Given the description of an element on the screen output the (x, y) to click on. 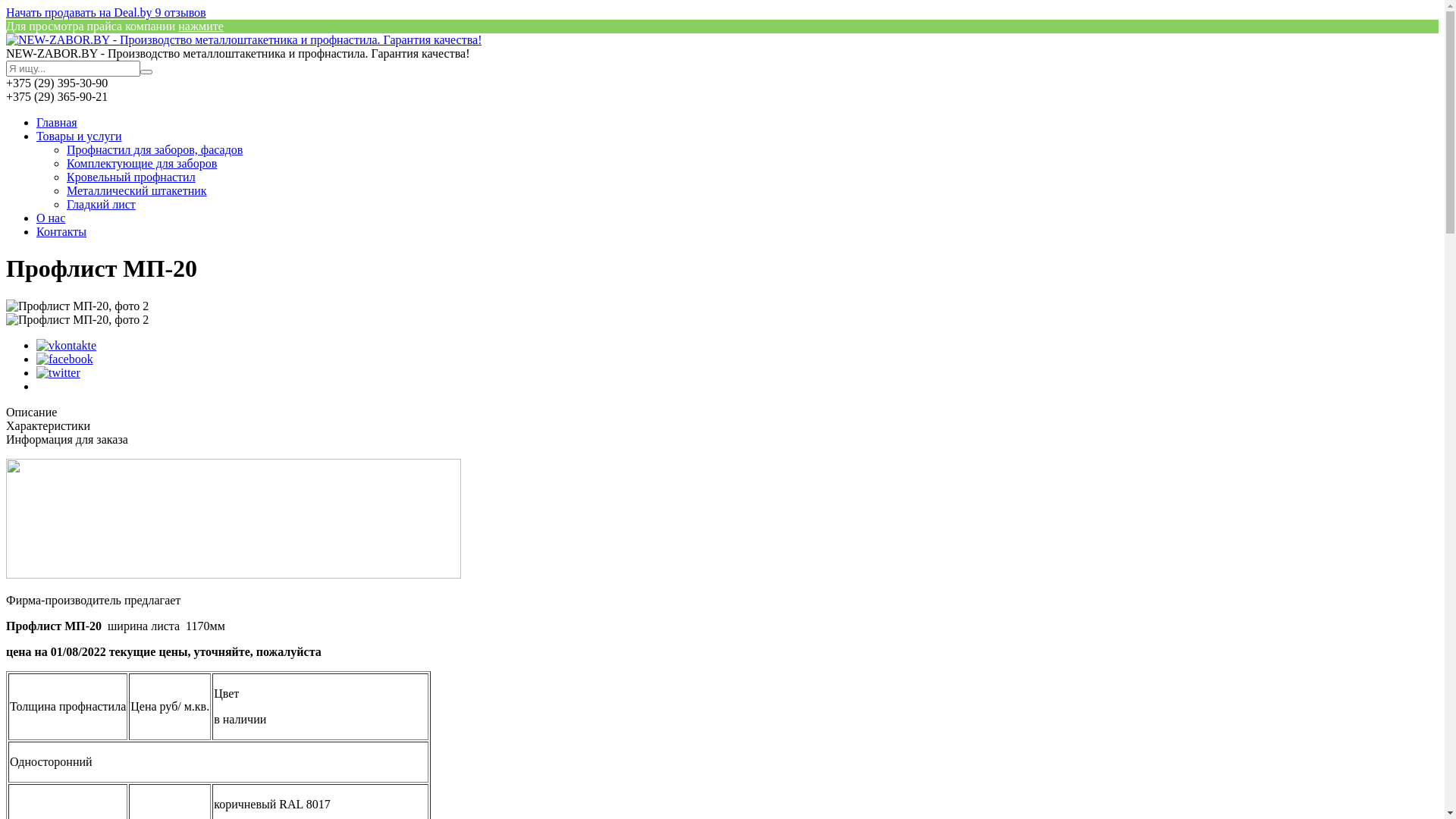
facebook Element type: hover (64, 358)
twitter Element type: hover (58, 372)
